Given the description of an element on the screen output the (x, y) to click on. 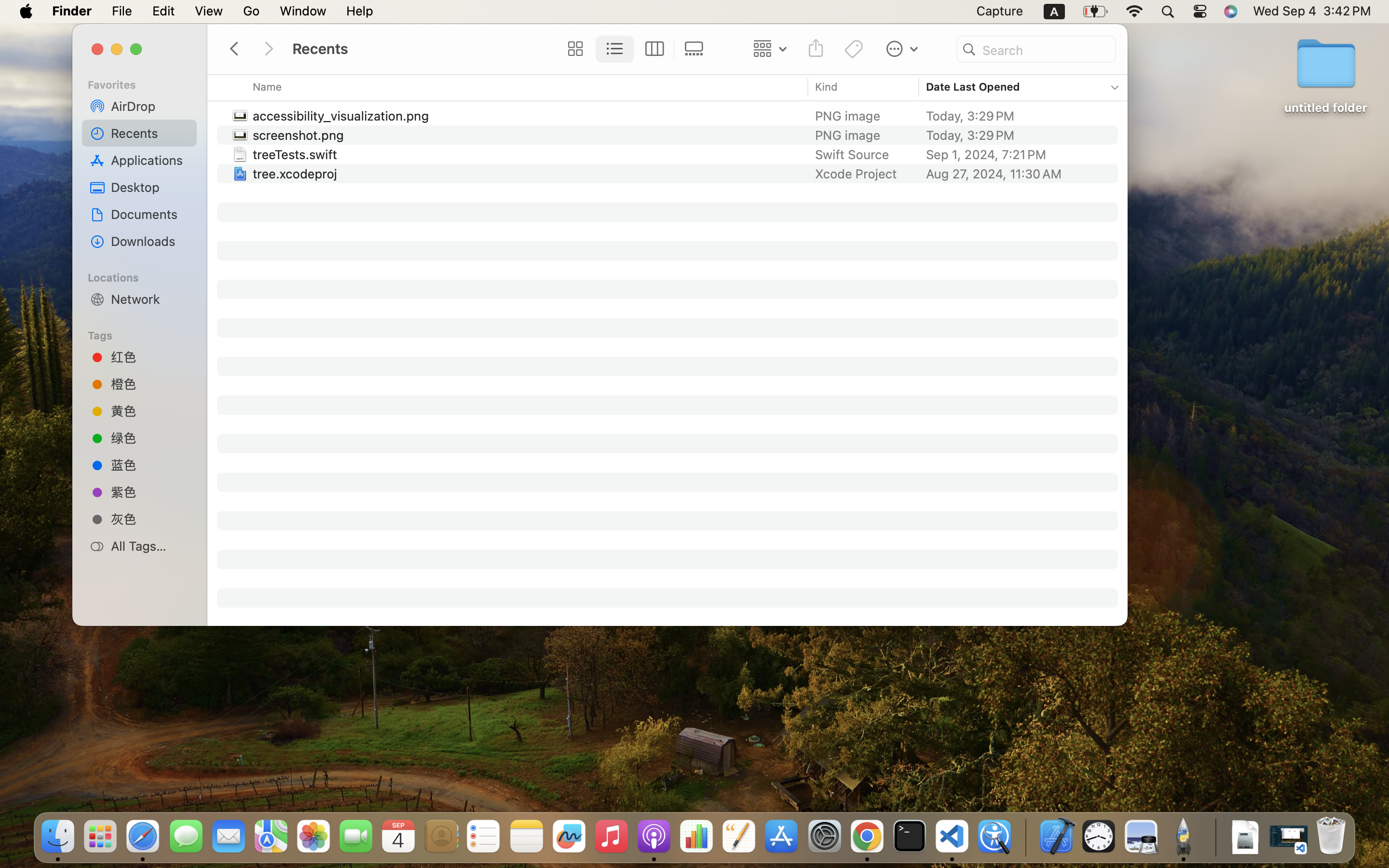
Kind Element type: AXStaticText (826, 86)
Date Last Opened Element type: AXStaticText (973, 86)
蓝色 Element type: AXStaticText (149, 464)
Network Element type: AXStaticText (149, 298)
Swift Source Element type: AXStaticText (852, 154)
